Given the description of an element on the screen output the (x, y) to click on. 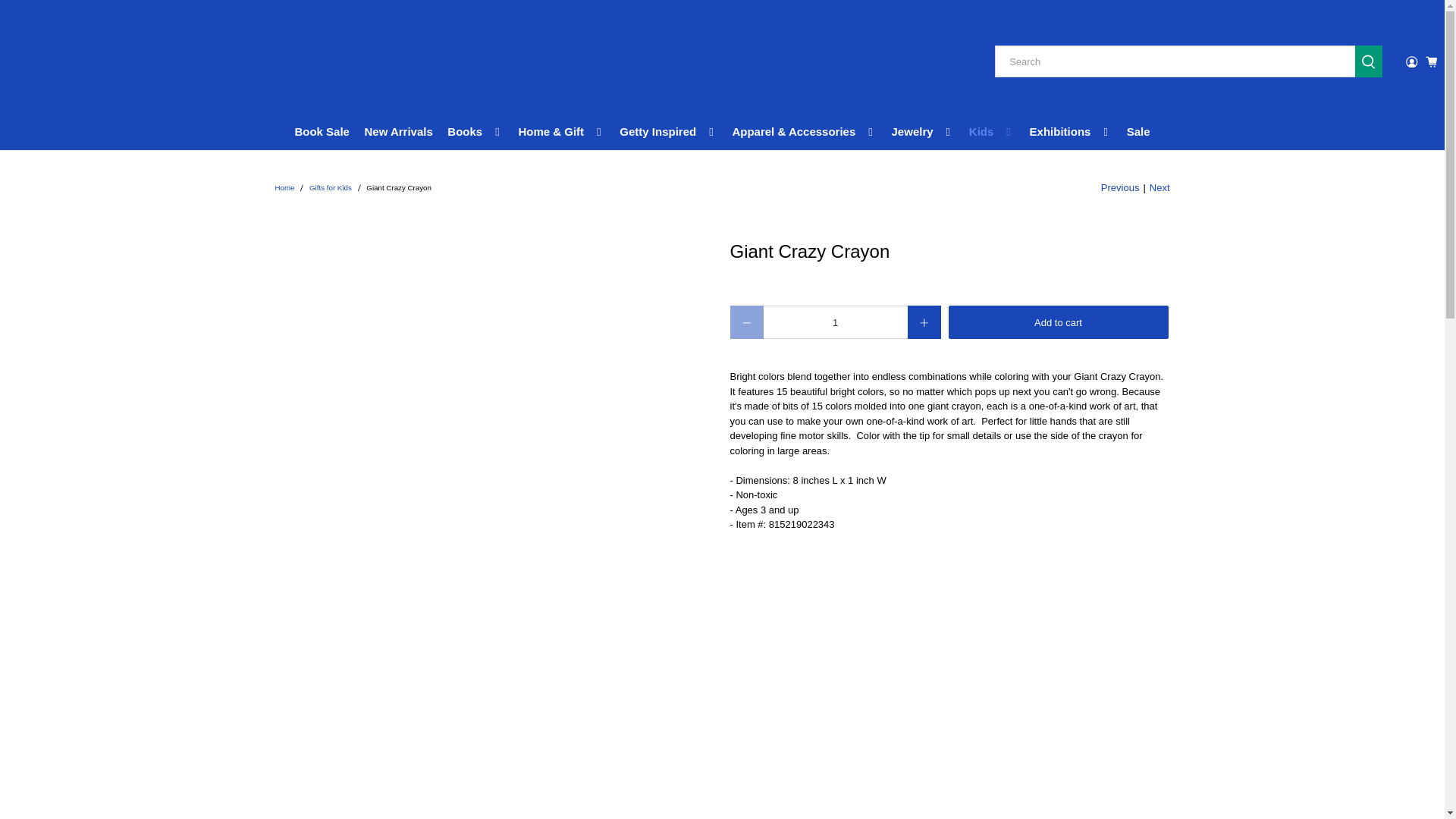
Books (476, 131)
Gifts for Kids (330, 187)
1 (834, 322)
Getty Museum Store (82, 61)
Previous (1120, 187)
New Arrivals (398, 131)
Getty Museum Store (284, 187)
Getty Inspired (668, 131)
Next (1160, 187)
Book Sale (321, 131)
